Given the description of an element on the screen output the (x, y) to click on. 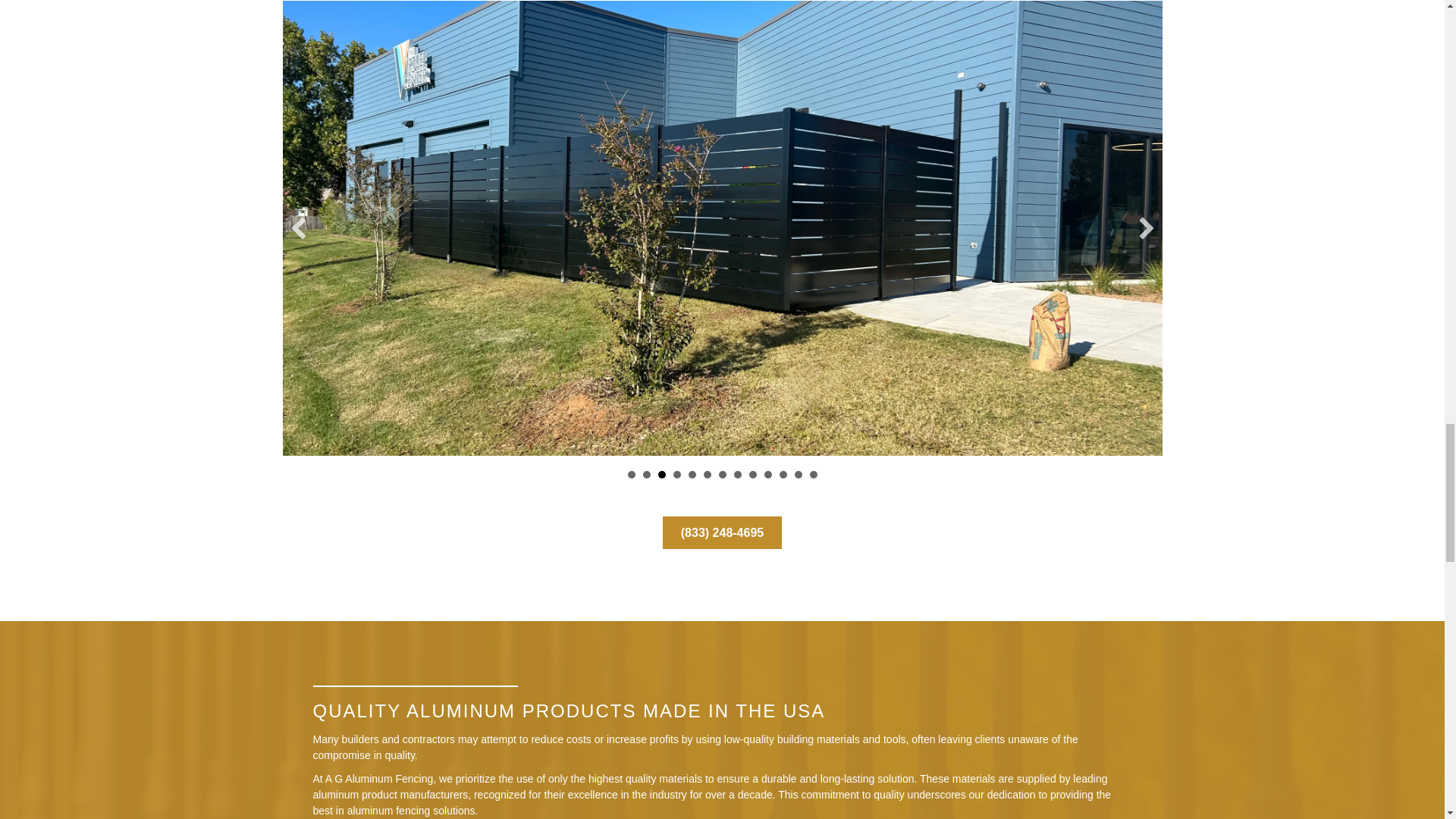
9 (753, 474)
7 (722, 474)
6 (707, 474)
2 (646, 474)
4 (676, 474)
8 (737, 474)
11 (782, 474)
5 (691, 474)
10 (767, 474)
12 (798, 474)
1 (630, 474)
3 (661, 474)
